Given the description of an element on the screen output the (x, y) to click on. 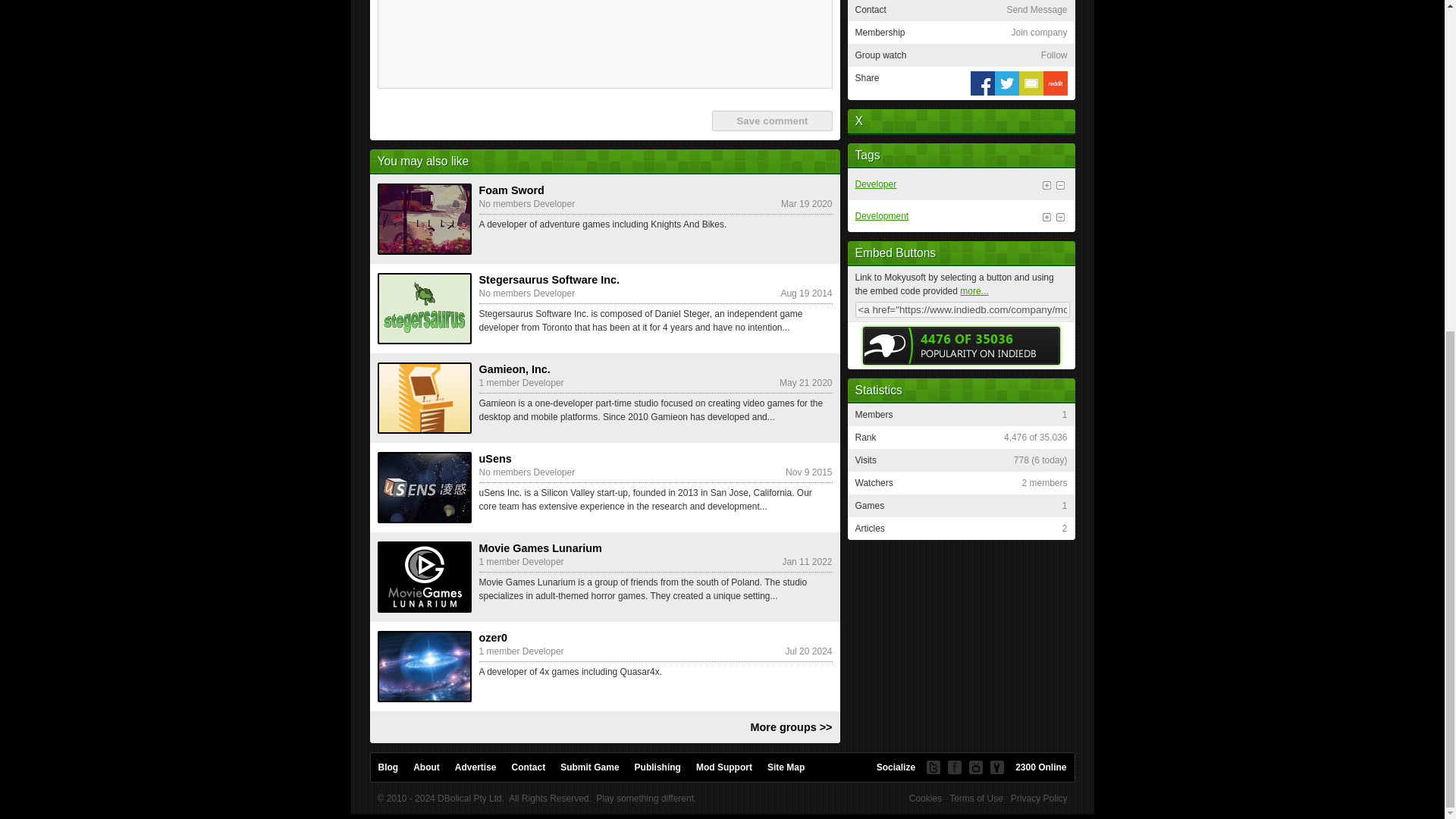
Foam Sword (424, 218)
Gamieon, Inc. (424, 398)
Stegersaurus Software Inc. (424, 307)
uSens (424, 487)
Save comment (771, 120)
